Given the description of an element on the screen output the (x, y) to click on. 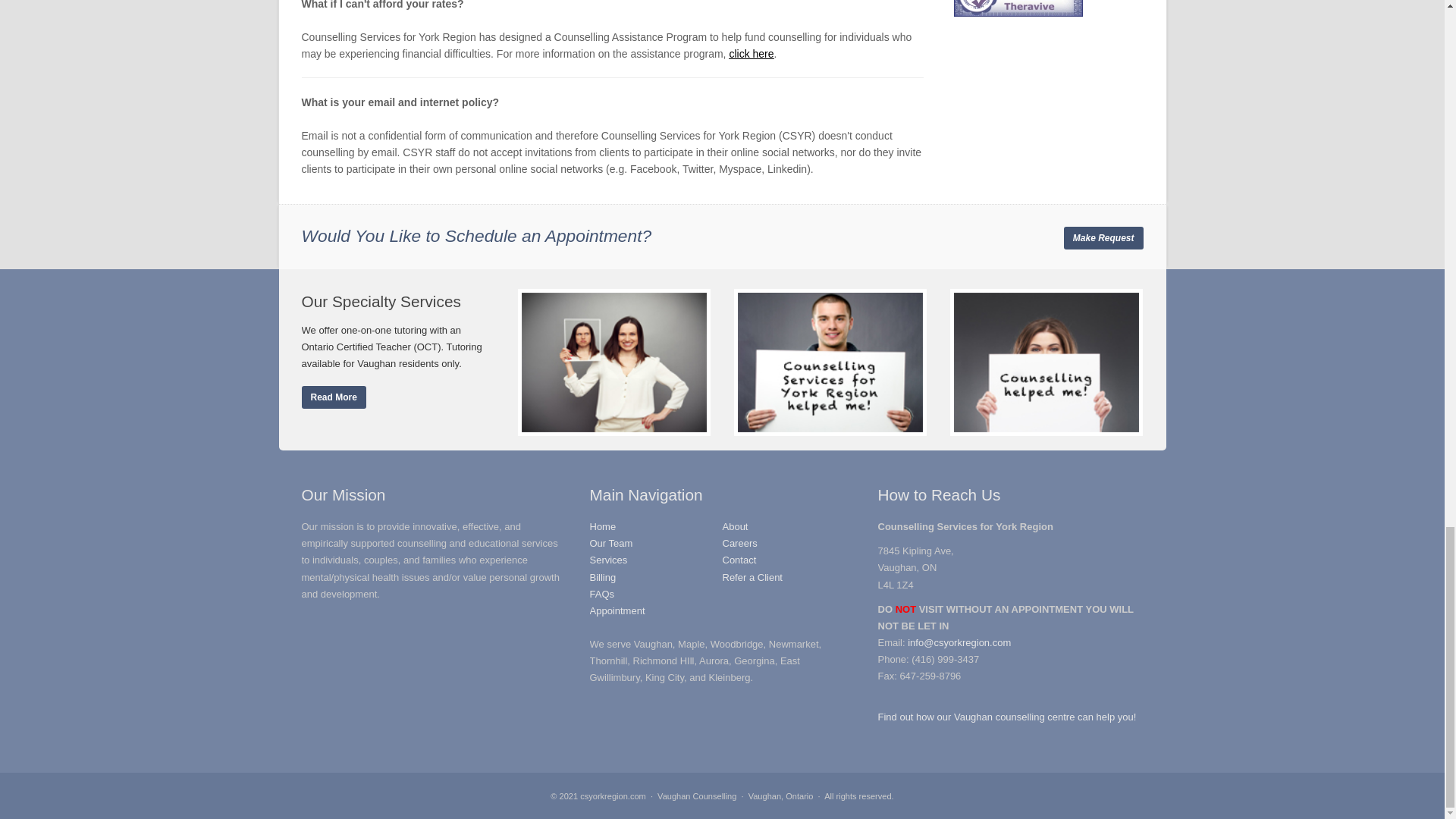
Read More (333, 396)
click here (751, 53)
Make Request (1103, 237)
Home (602, 526)
